Given the description of an element on the screen output the (x, y) to click on. 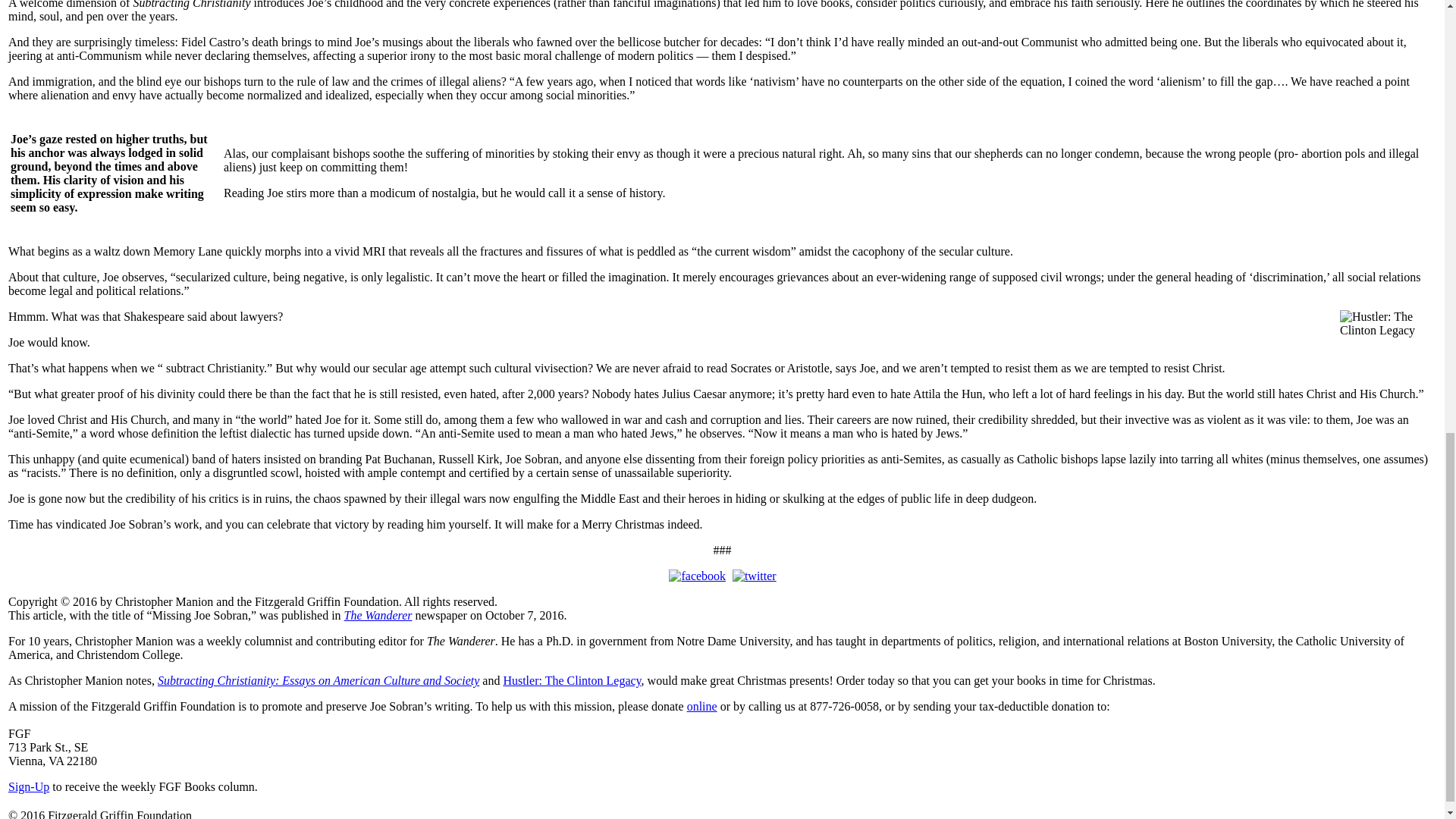
Hustler: The Clinton Legacy (571, 680)
Sign-Up (28, 786)
online (702, 706)
The Wanderer (377, 615)
